Given the description of an element on the screen output the (x, y) to click on. 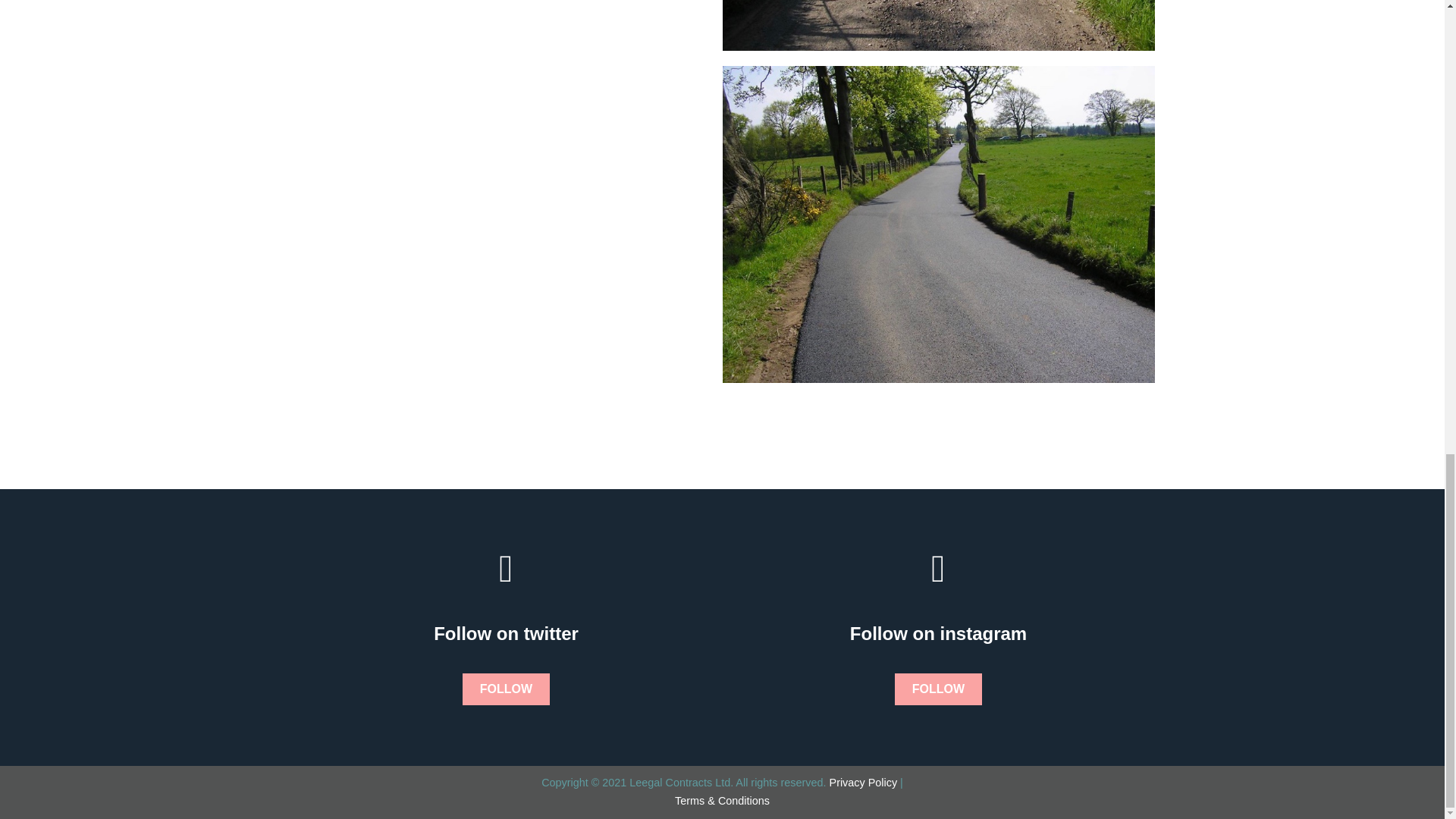
FOLLOW (506, 689)
Privacy Policy (863, 782)
FOLLOW (938, 689)
